Given the description of an element on the screen output the (x, y) to click on. 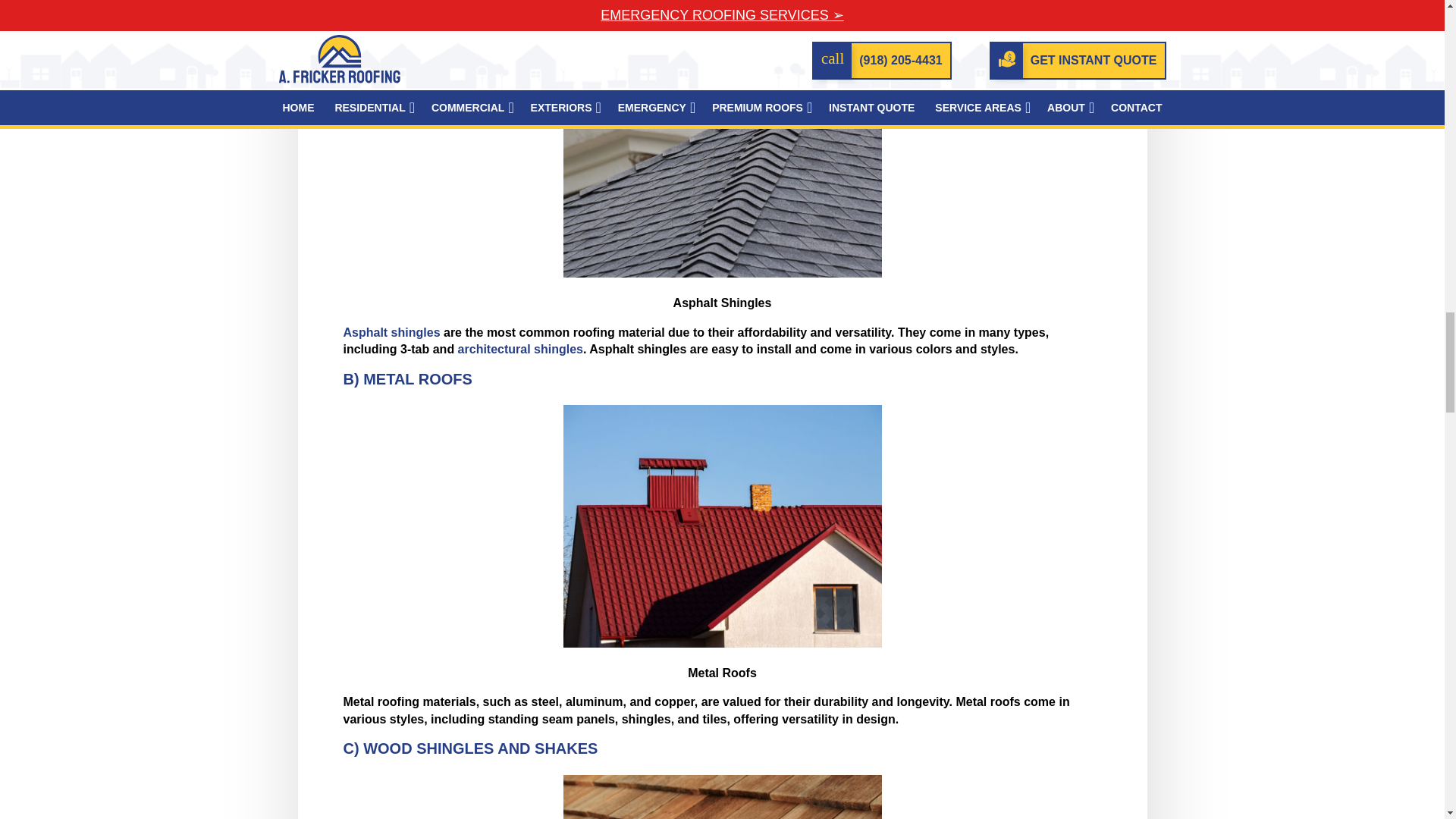
Roofing Terms (721, 156)
Roofing Terms (721, 525)
Roofing Terms (721, 796)
